Given the description of an element on the screen output the (x, y) to click on. 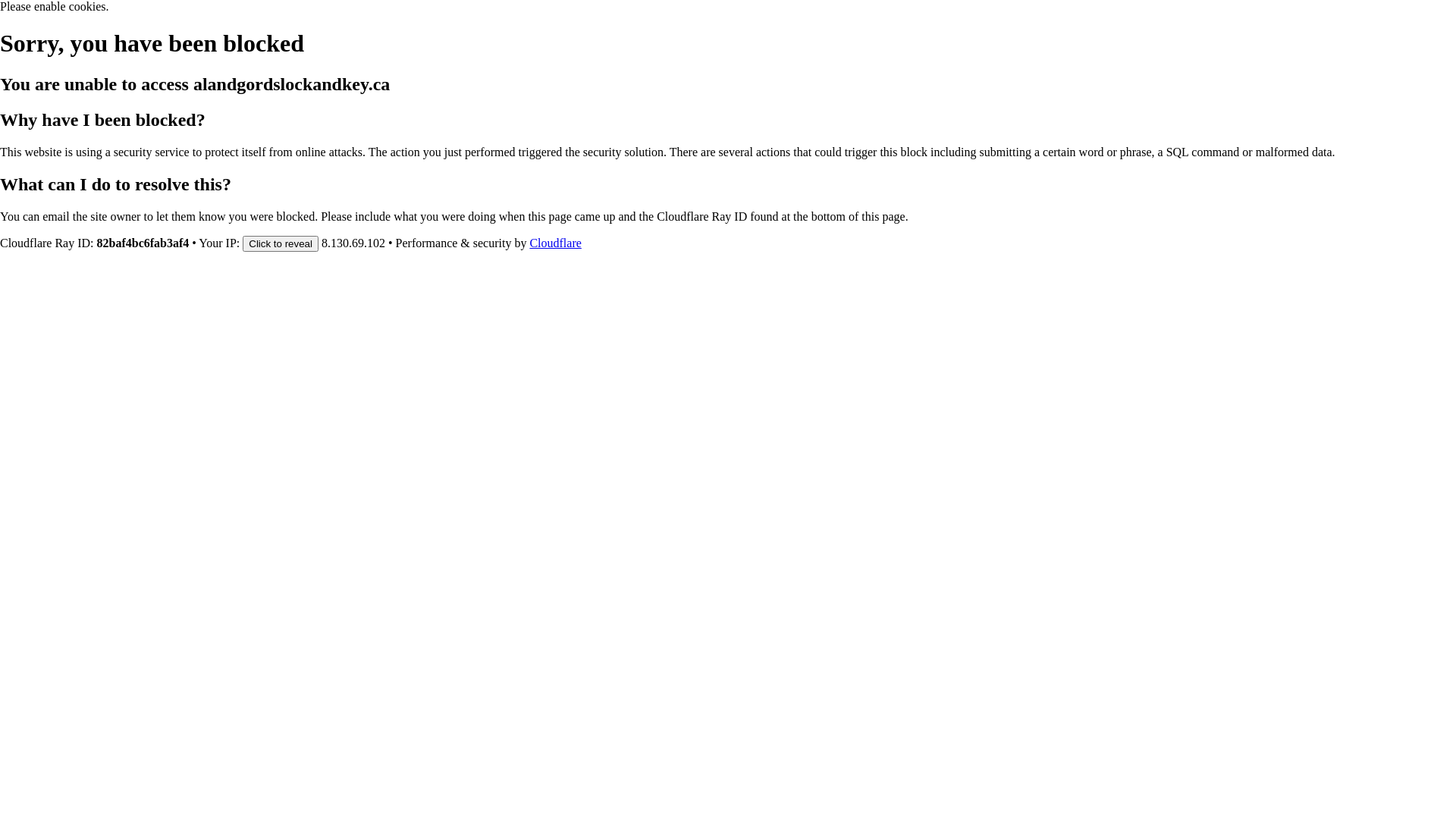
Click to reveal Element type: text (280, 243)
Cloudflare Element type: text (554, 242)
